Given the description of an element on the screen output the (x, y) to click on. 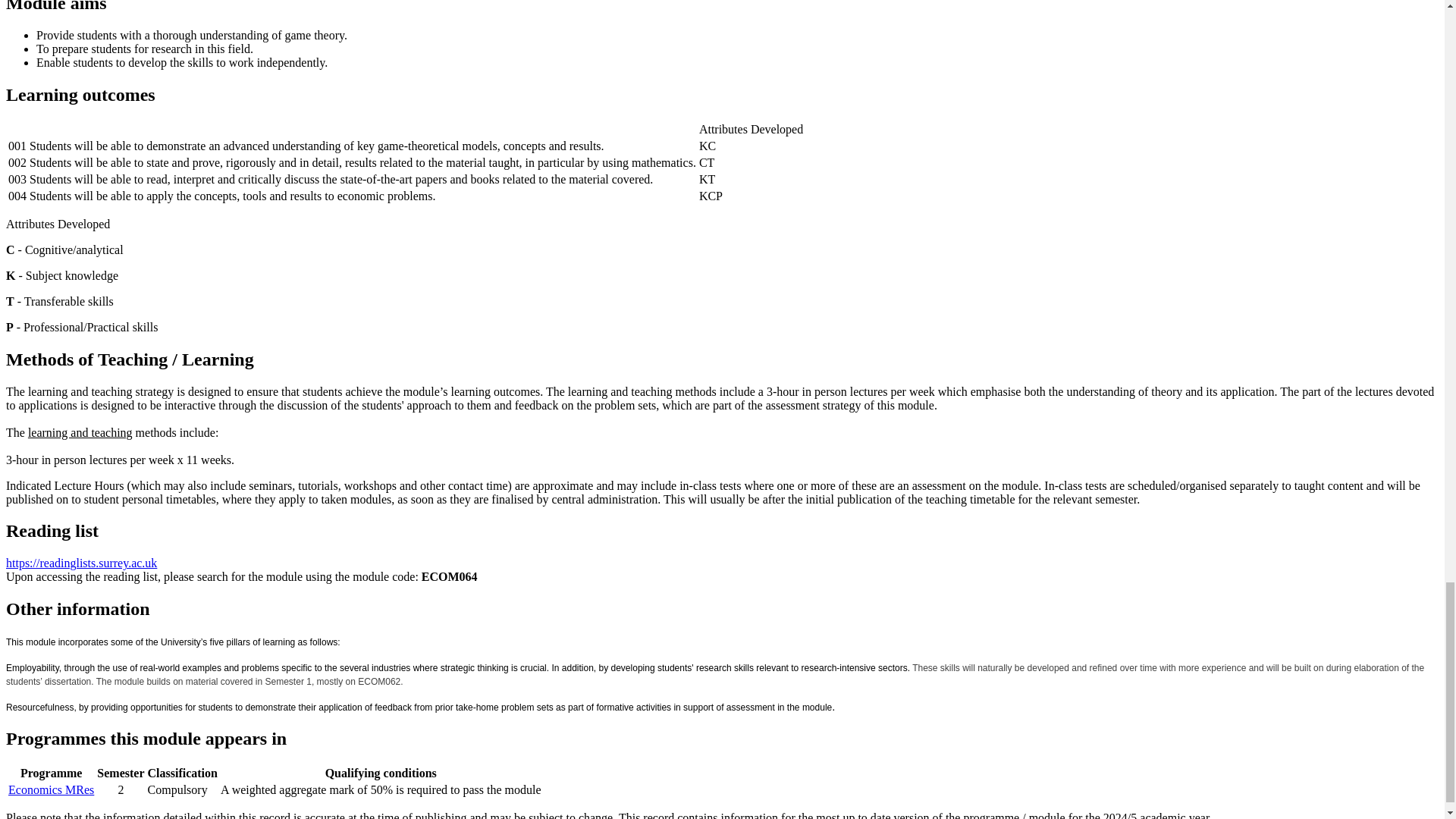
Economics MRes (51, 789)
